Given the description of an element on the screen output the (x, y) to click on. 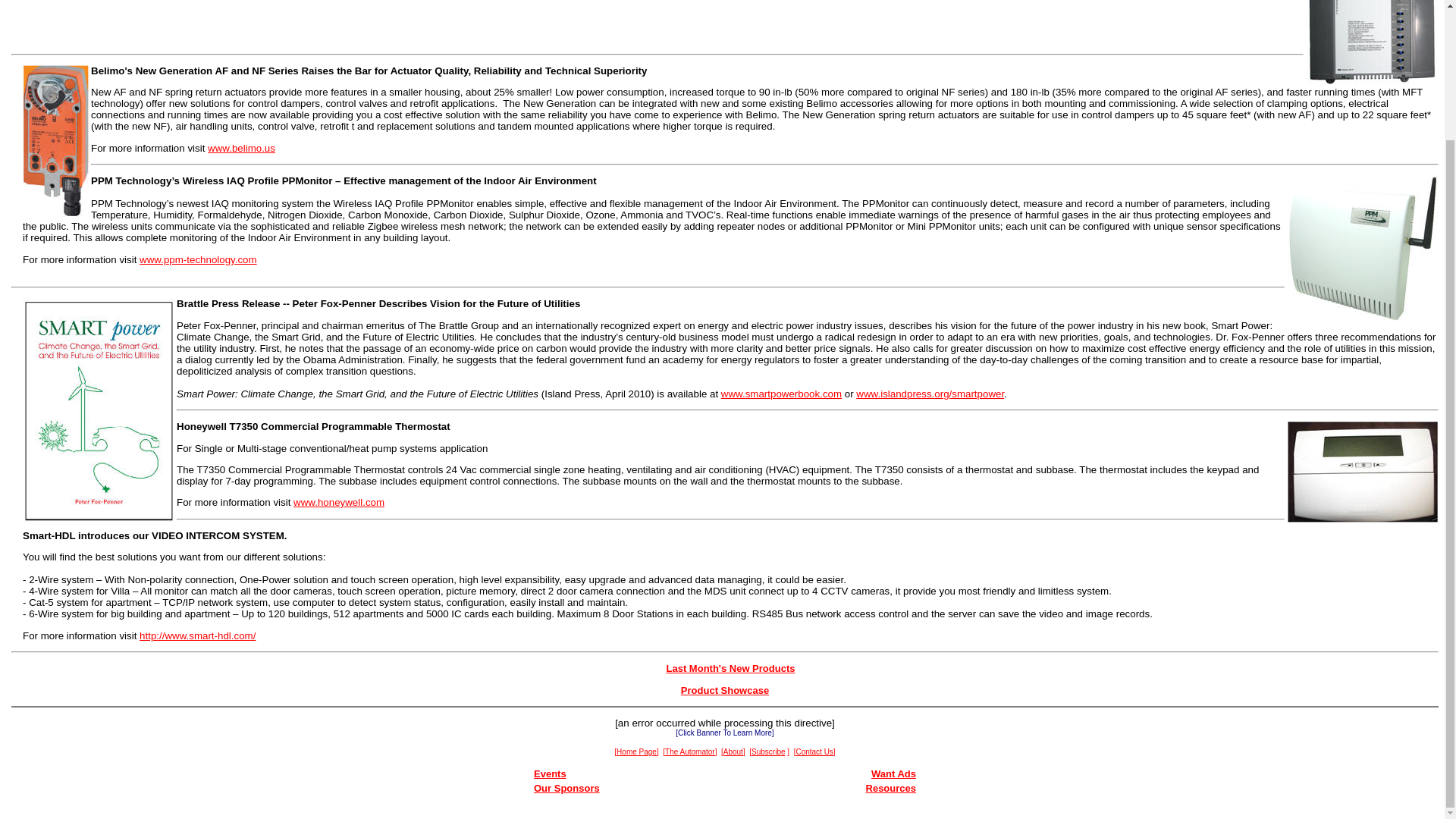
www.belimo.us (241, 147)
www.honeywell.com (339, 501)
Want Ads (892, 773)
Resources (890, 787)
Events (550, 773)
Our Sponsors (566, 787)
Subscribe (767, 749)
Product Showcase (724, 690)
www.ppm-technology.com (198, 259)
Last Month's New Products (730, 668)
www.smartpowerbook.com (780, 393)
